Given the description of an element on the screen output the (x, y) to click on. 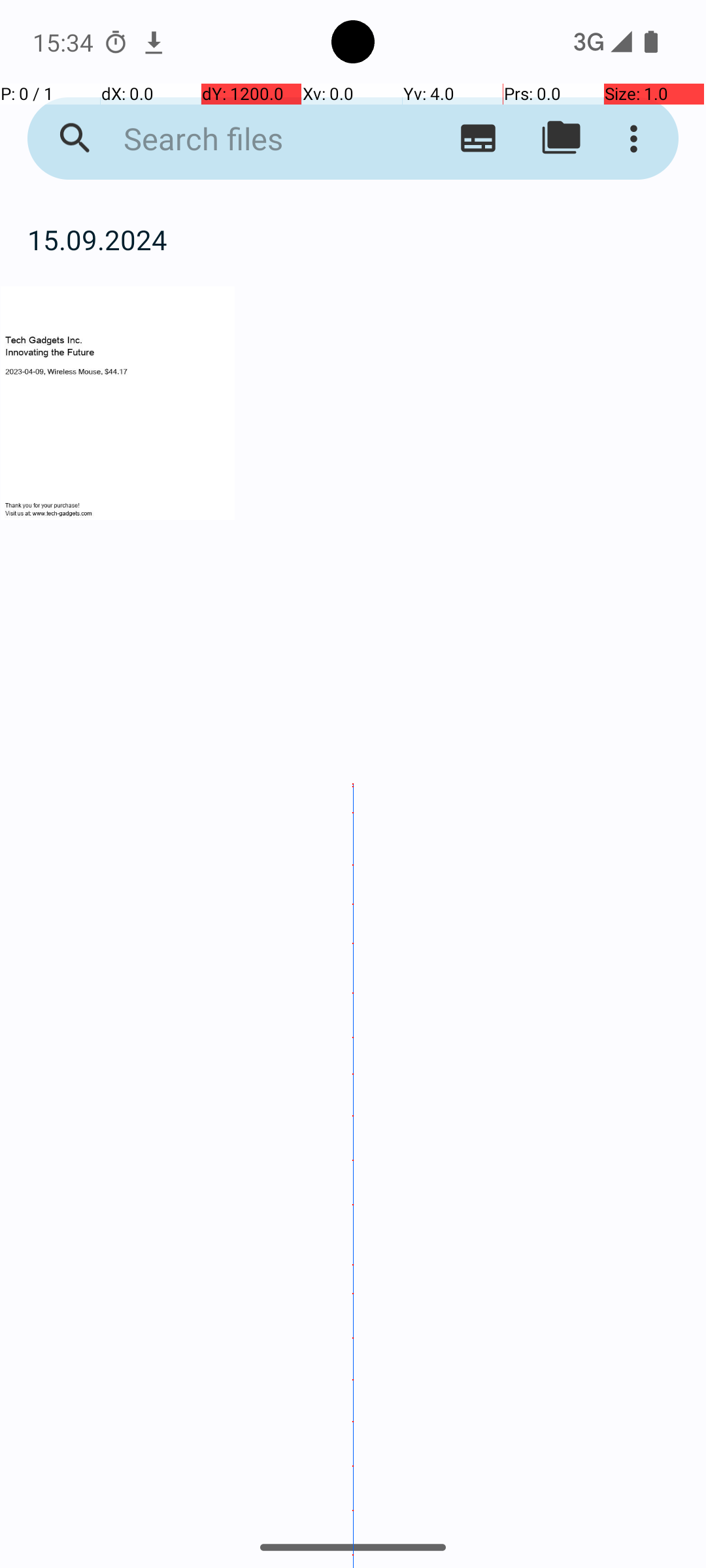
Search files Element type: android.widget.EditText (252, 138)
Switch to folder view Element type: android.widget.Button (560, 138)
15.09.2024 Element type: android.widget.TextView (353, 239)
